Given the description of an element on the screen output the (x, y) to click on. 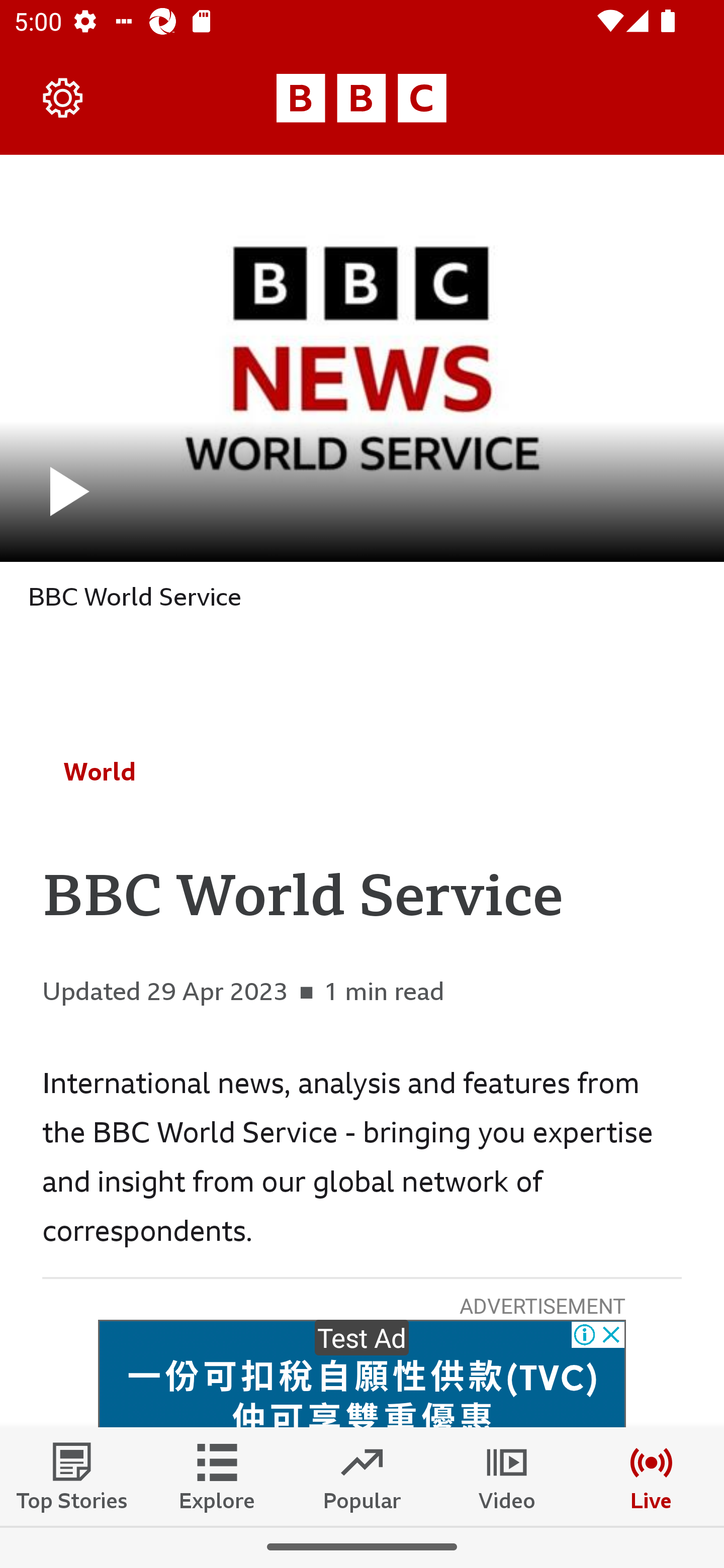
Settings (63, 97)
play fullscreen (362, 358)
World (99, 771)
Fidelity javascript:window.open(window (361, 1373)
Top Stories (72, 1475)
Explore (216, 1475)
Popular (361, 1475)
Video (506, 1475)
